Given the description of an element on the screen output the (x, y) to click on. 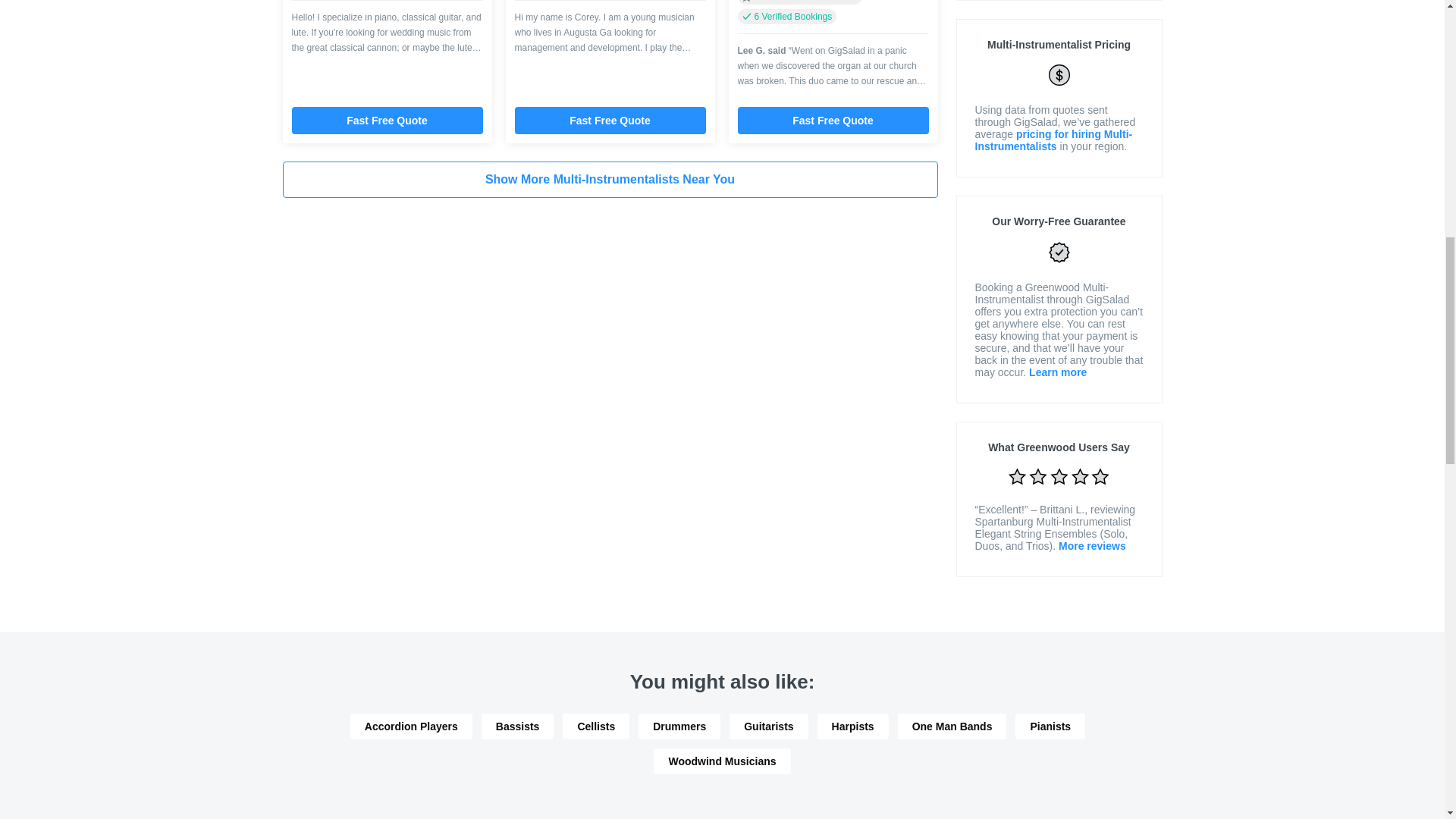
Multi-Instrumentalist Pricing (1059, 44)
Fast Free Quote (386, 120)
More reviews (1091, 545)
Learn more (1057, 372)
pricing for hiring Multi-Instrumentalists (1053, 139)
